Given the description of an element on the screen output the (x, y) to click on. 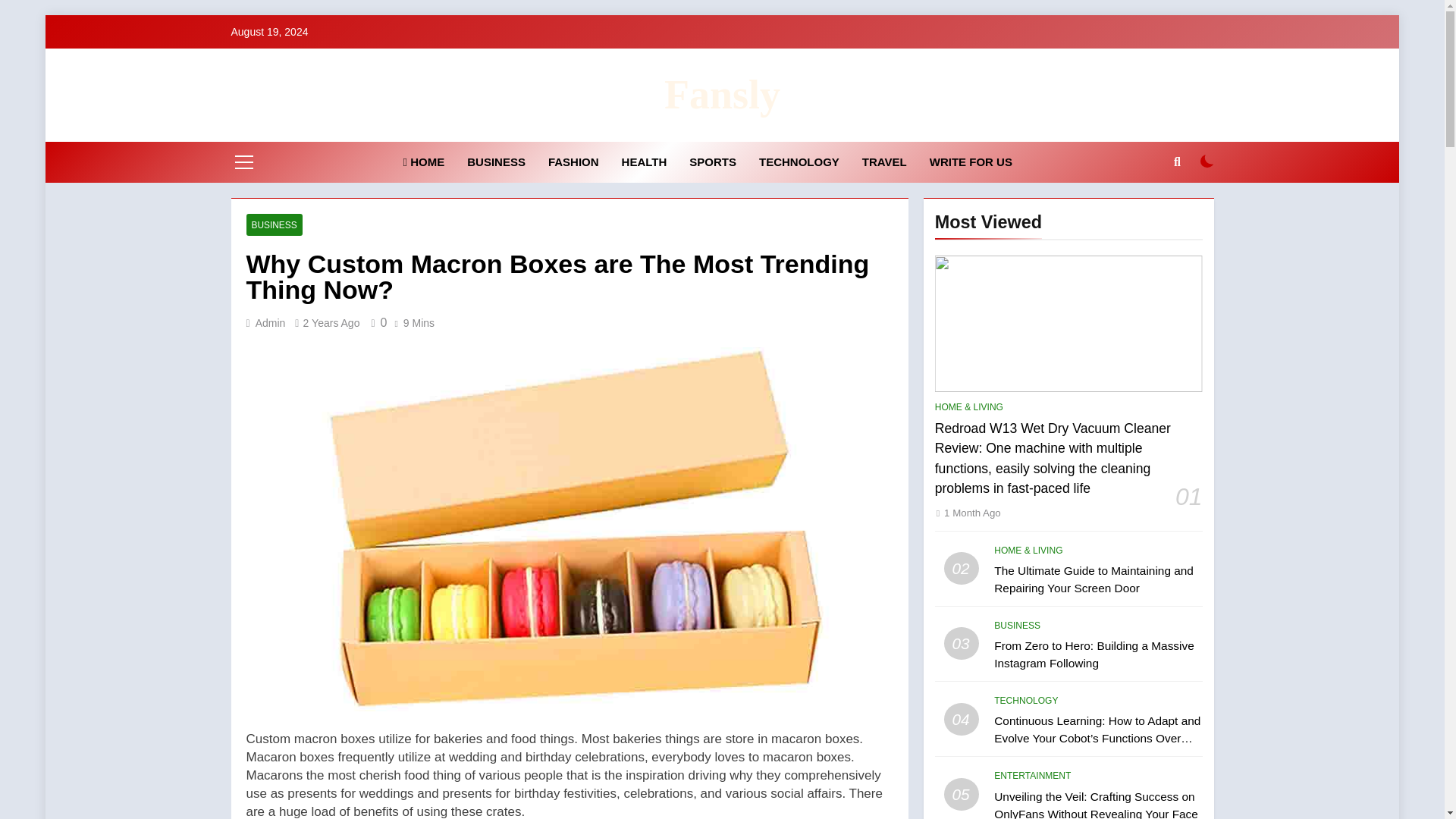
TRAVEL (884, 161)
TECHNOLOGY (799, 161)
Fansly (721, 94)
BUSINESS (496, 161)
HOME (424, 161)
on (1206, 161)
WRITE FOR US (970, 161)
FASHION (573, 161)
HEALTH (644, 161)
